Given the description of an element on the screen output the (x, y) to click on. 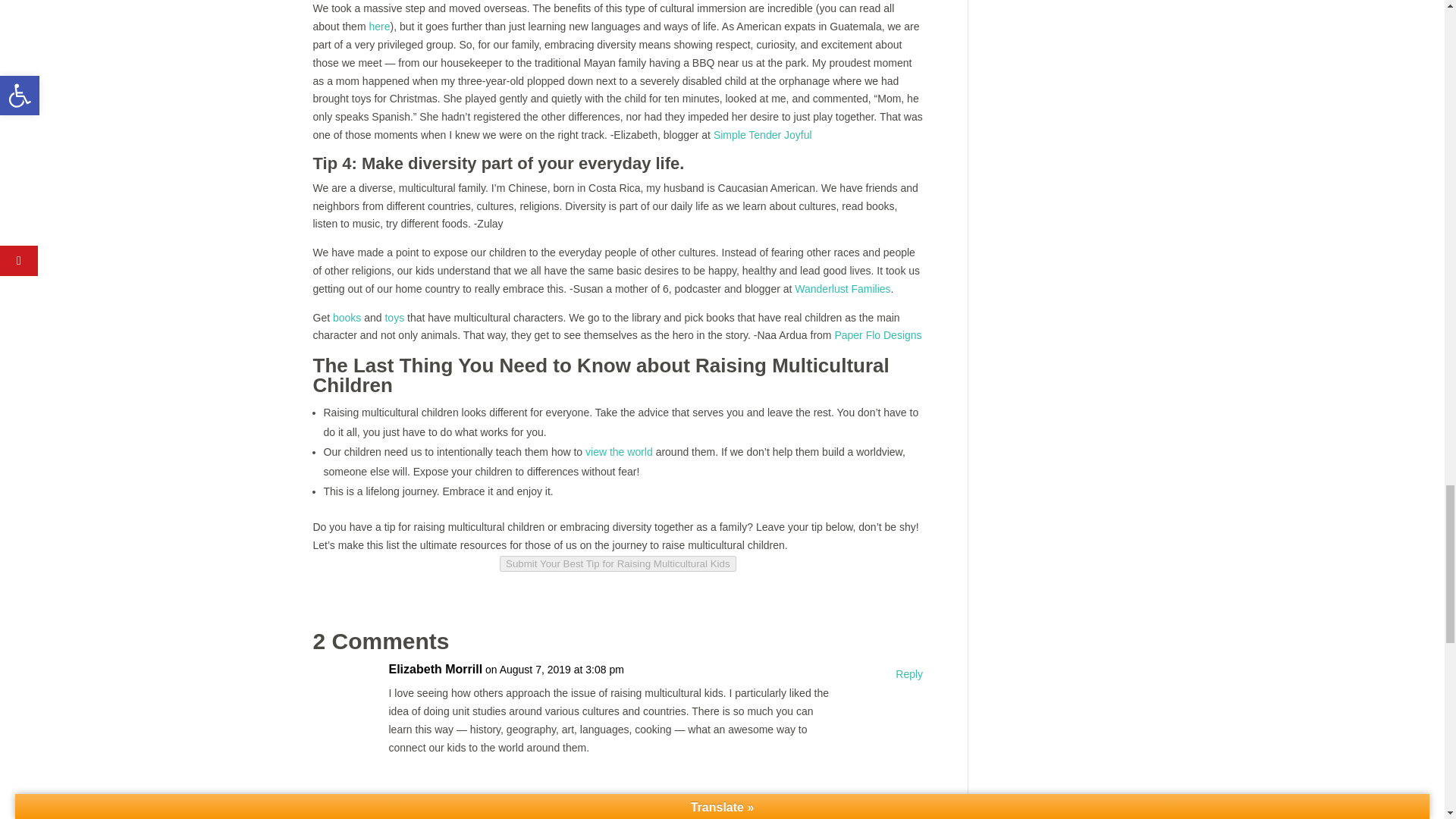
Submit Your Best Tip for Raising Multicultural Kids (617, 563)
Reply (909, 808)
Reply (909, 674)
Paper Flo Designs (877, 335)
Submit Your Best Tip for Raising Multicultural Kids (617, 563)
books (347, 317)
Vanessa (488, 802)
toys (394, 317)
Simple Tender Joyful (762, 134)
Elizabeth Morrill (434, 669)
view the world (618, 451)
Wanderlust Families (841, 288)
here (379, 26)
